Given the description of an element on the screen output the (x, y) to click on. 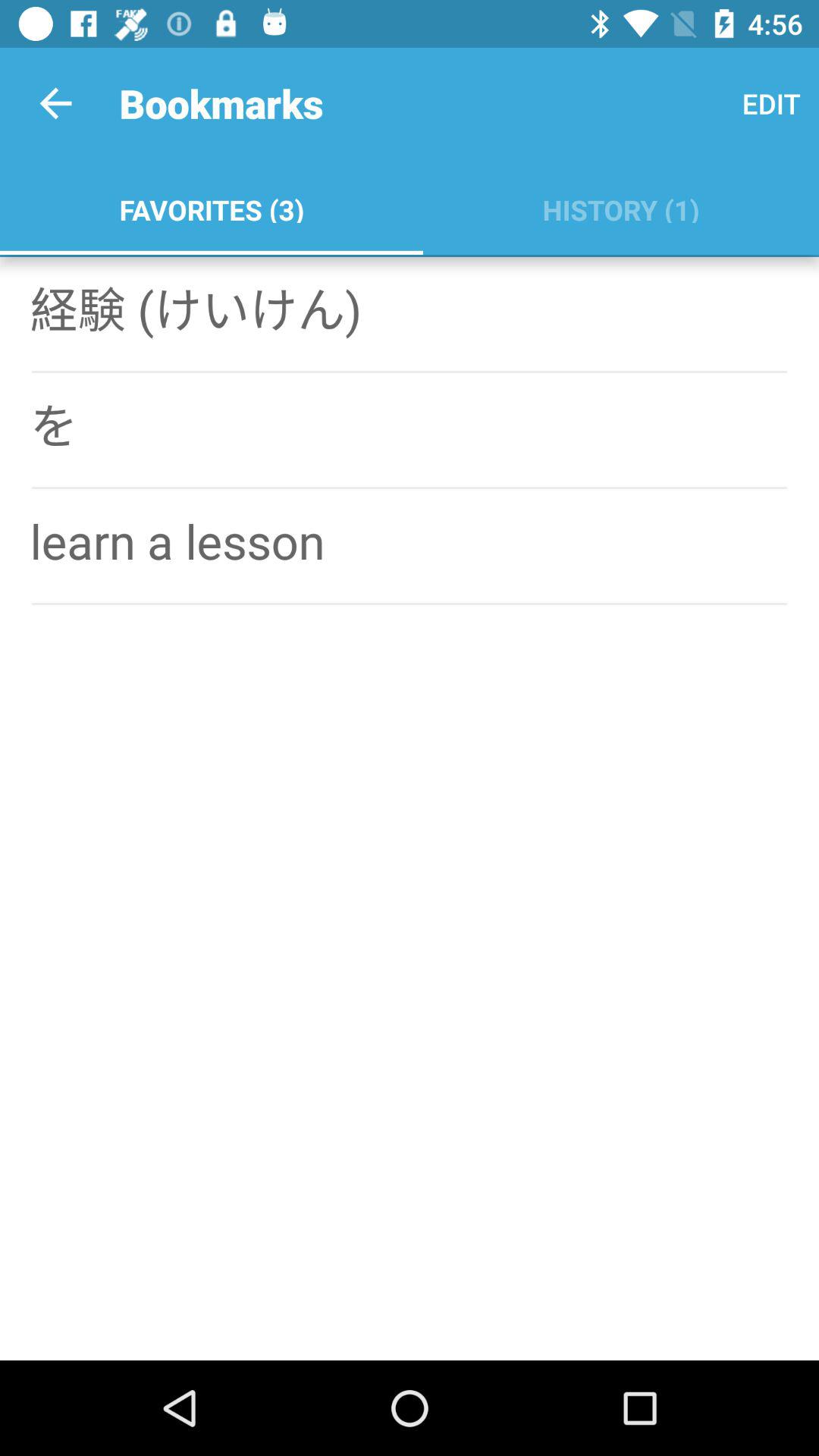
turn on the app to the right of the favorites (3) (771, 103)
